Given the description of an element on the screen output the (x, y) to click on. 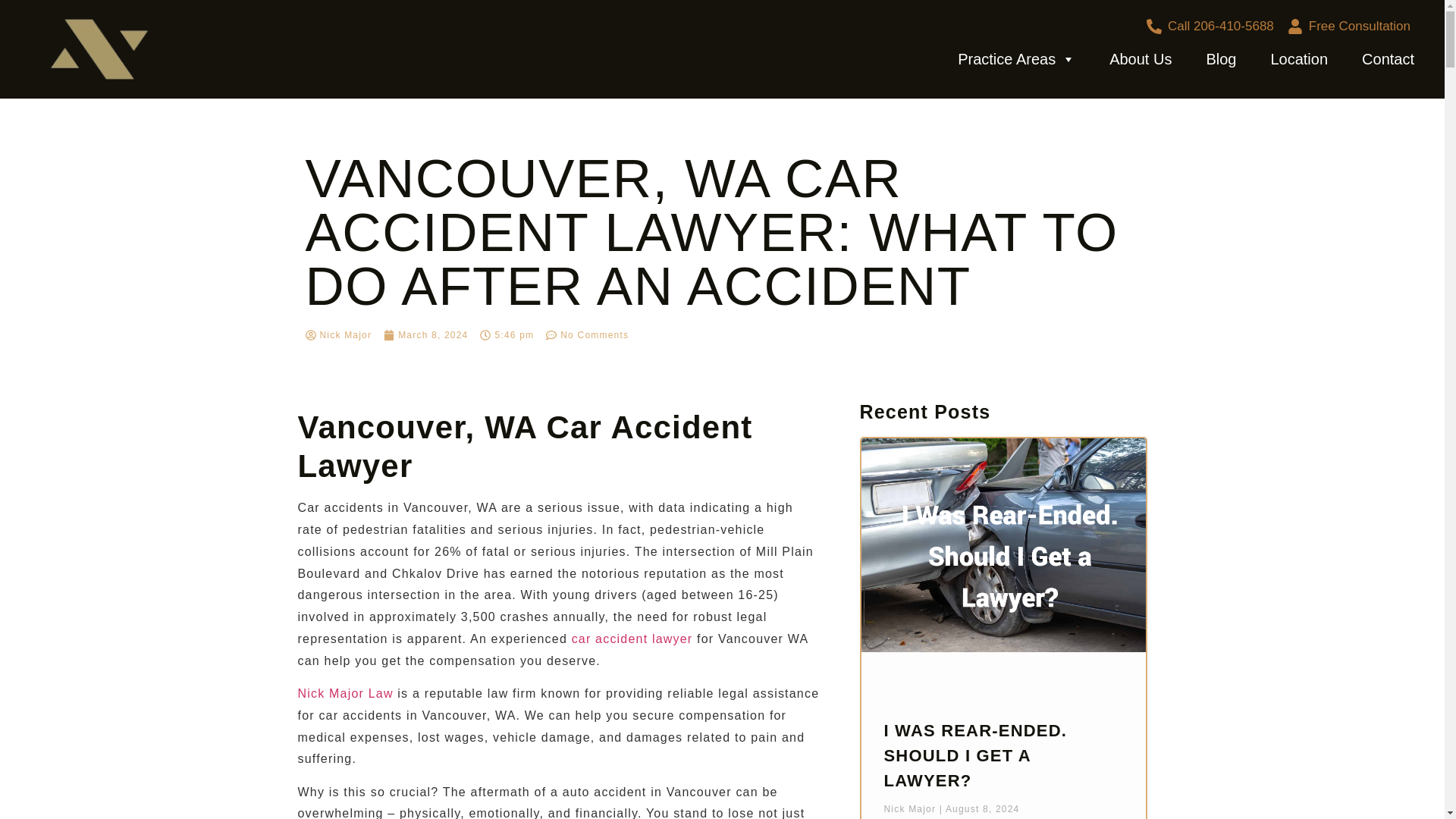
Practice Areas (1016, 59)
Free Consultation (1347, 26)
Call 206-410-5688 (1209, 26)
